Given the description of an element on the screen output the (x, y) to click on. 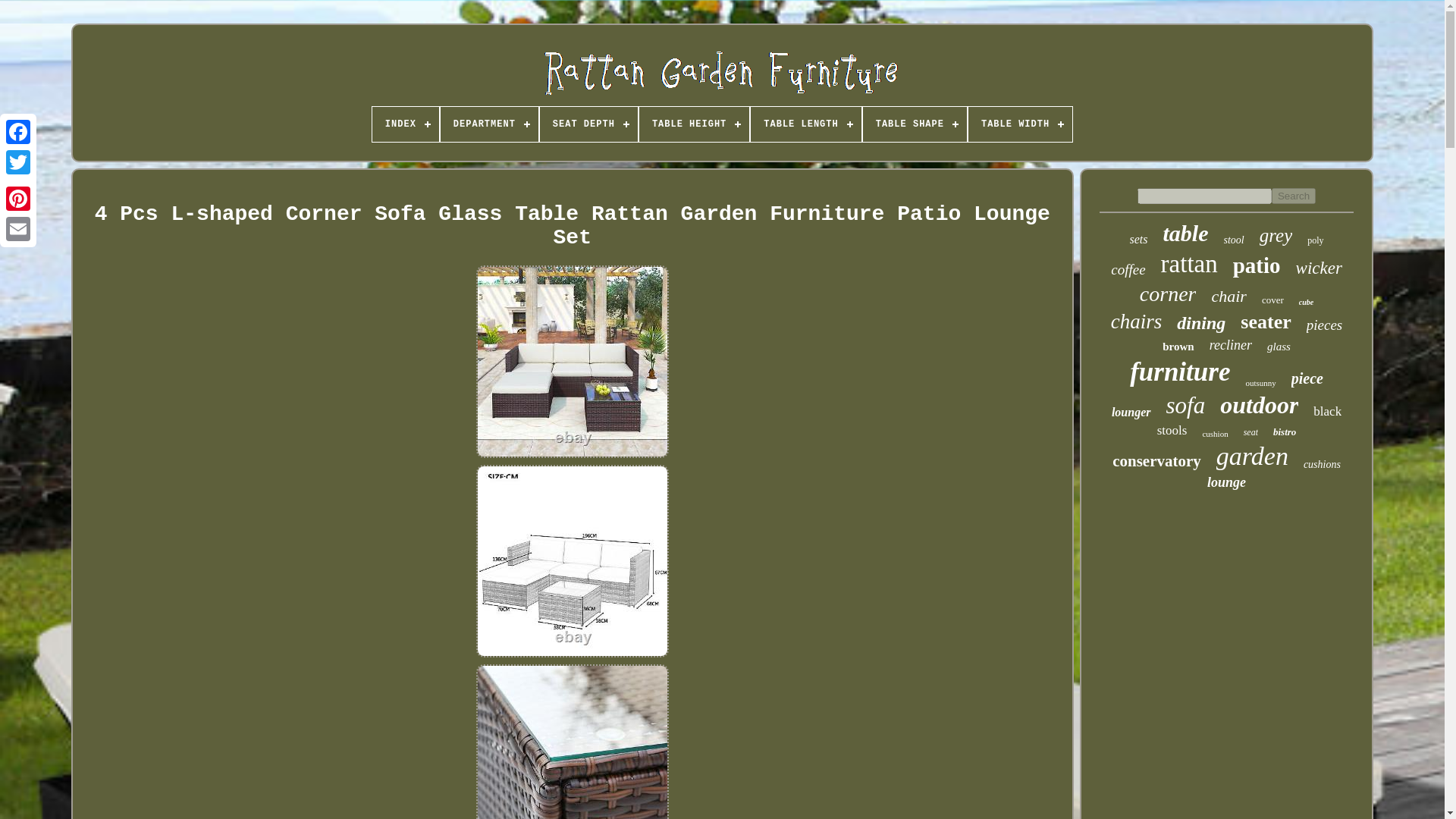
SEAT DEPTH (588, 124)
Search (1293, 195)
INDEX (405, 124)
Email (17, 228)
DEPARTMENT (489, 124)
